Given the description of an element on the screen output the (x, y) to click on. 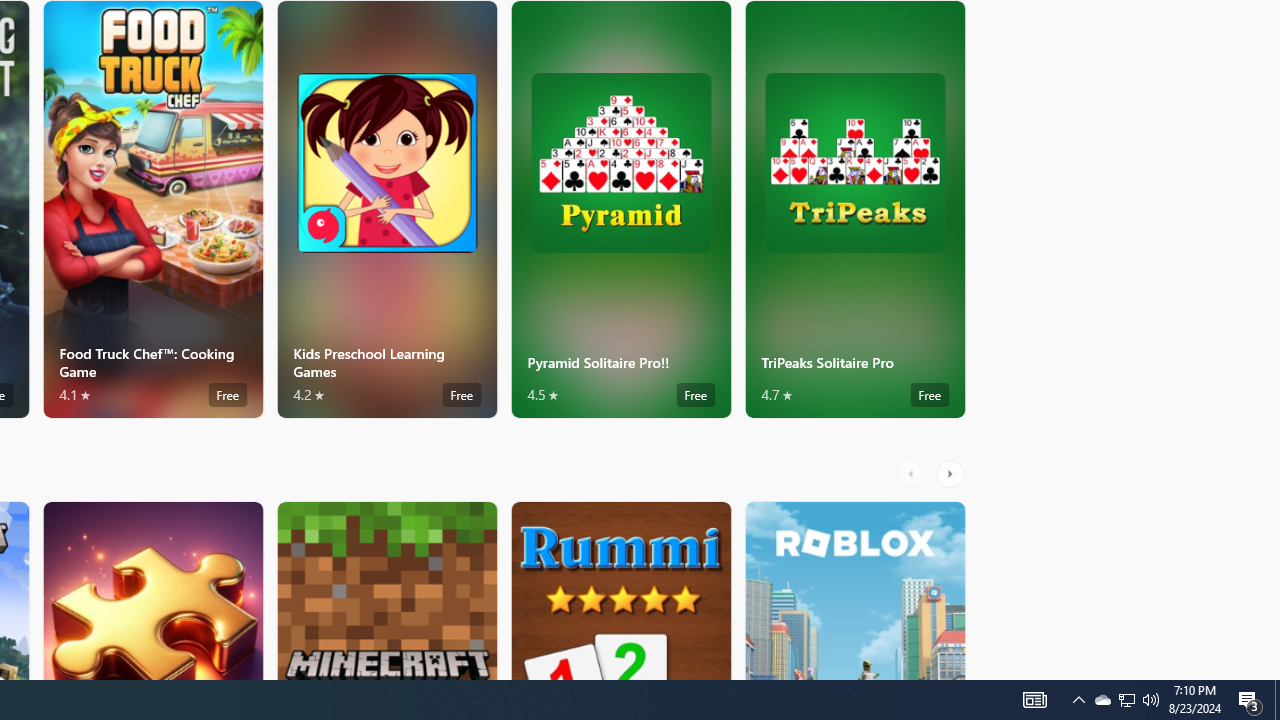
Rummi. Average rating of 4.6 out of five stars. Free   (620, 590)
Roblox. Average rating of 4.5 out of five stars. Free   (854, 590)
AutomationID: LeftScrollButton (913, 473)
AutomationID: RightScrollButton (952, 473)
